Given the description of an element on the screen output the (x, y) to click on. 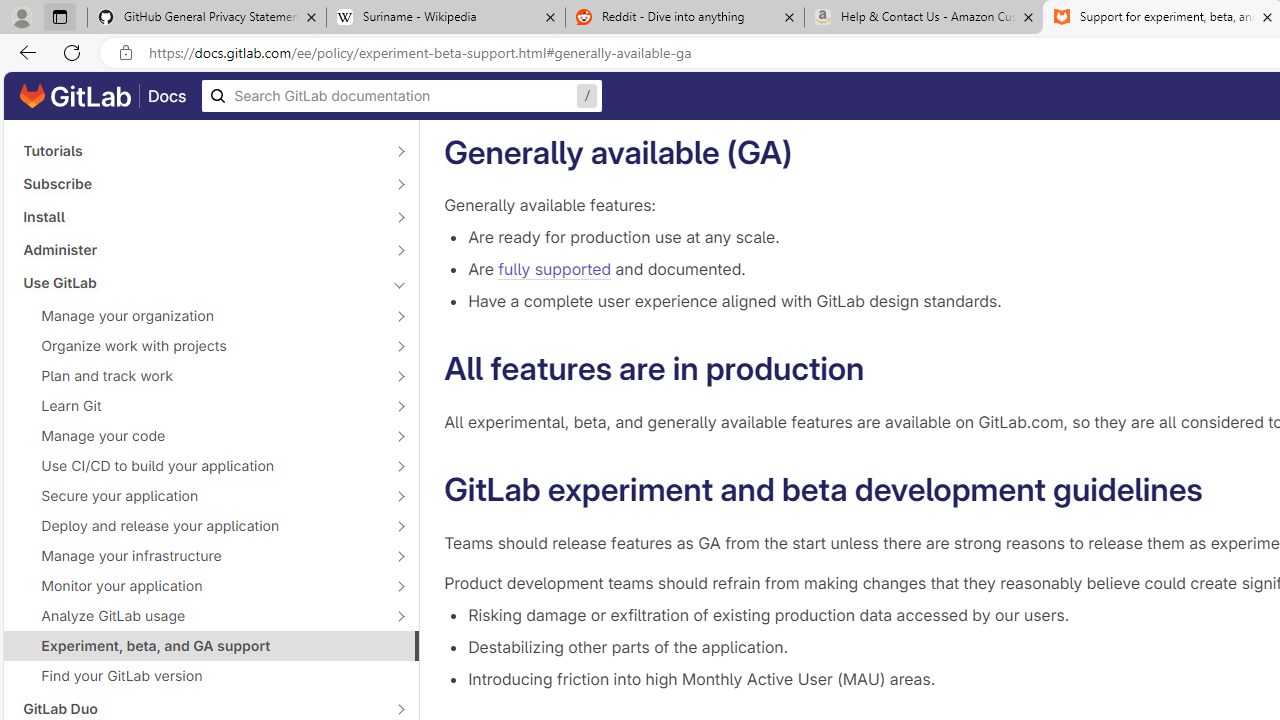
Plan and track work (199, 375)
fully supported (554, 269)
Subscribe (199, 183)
